Given the description of an element on the screen output the (x, y) to click on. 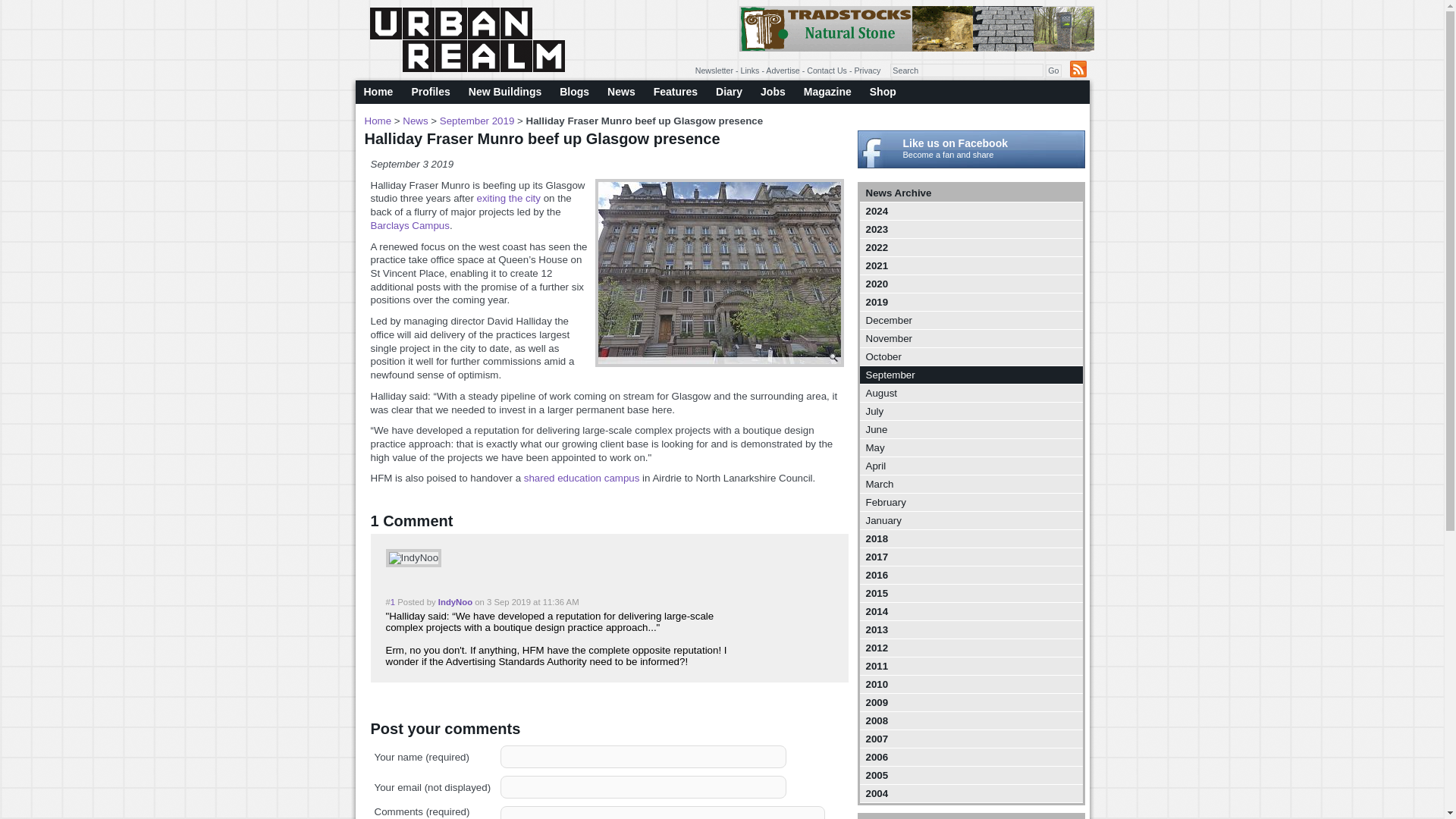
September 2019 (477, 120)
Halliday Fraser Munro beef up Glasgow presence (718, 272)
News (415, 120)
Barclays Campus (408, 225)
News (621, 92)
Features (675, 92)
Home (379, 92)
Magazine (827, 92)
Newsletter (714, 70)
Links (750, 70)
